Given the description of an element on the screen output the (x, y) to click on. 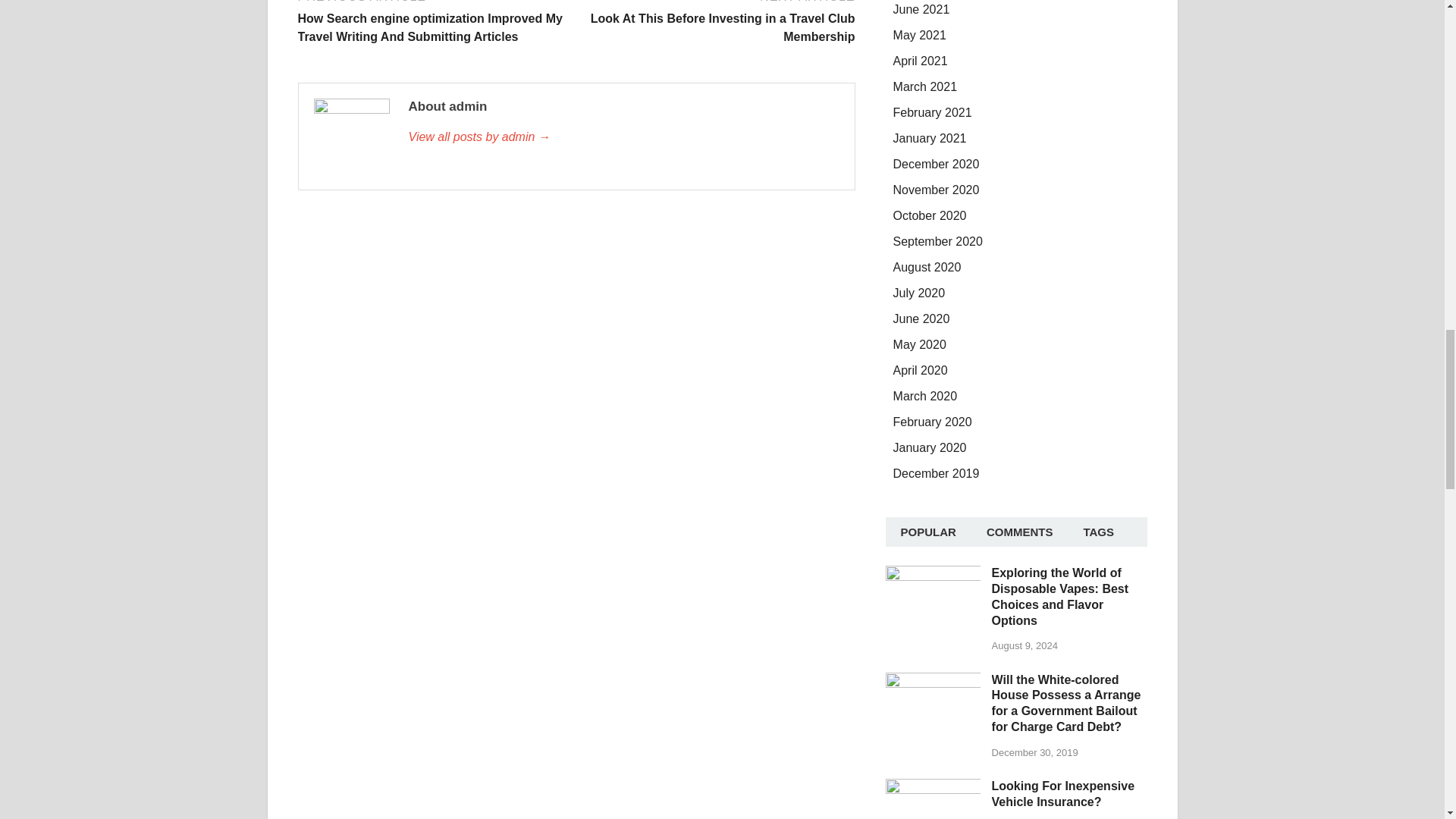
admin (622, 136)
Looking For Inexpensive Vehicle Insurance? (932, 787)
